Given the description of an element on the screen output the (x, y) to click on. 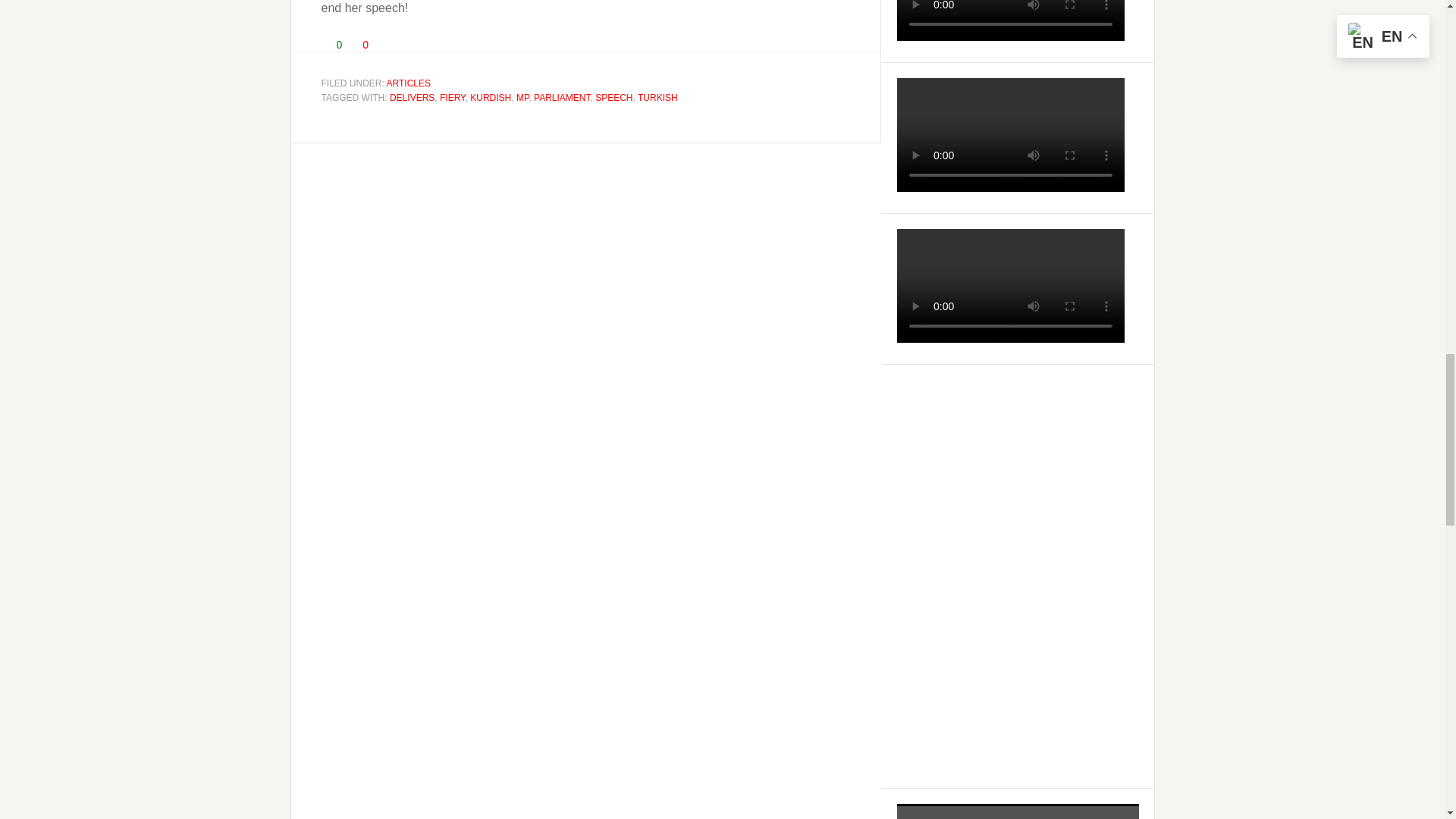
SPEECH (613, 97)
MP (522, 97)
ARTICLES (408, 82)
PARLIAMENT (561, 97)
FIERY (452, 97)
TURKISH (657, 97)
KURDISH (490, 97)
DELIVERS (411, 97)
